Given the description of an element on the screen output the (x, y) to click on. 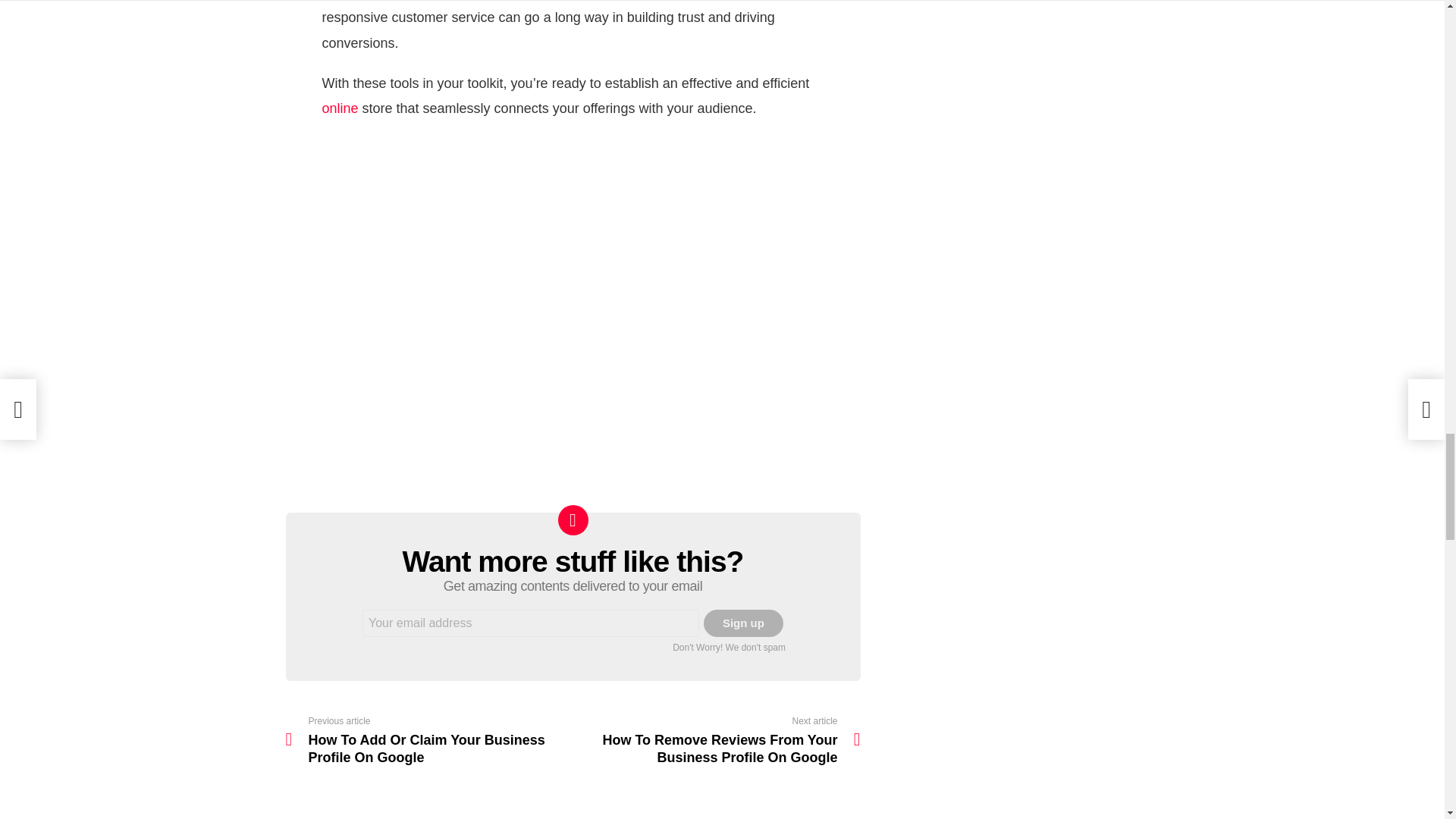
Sign up (743, 623)
